Given the description of an element on the screen output the (x, y) to click on. 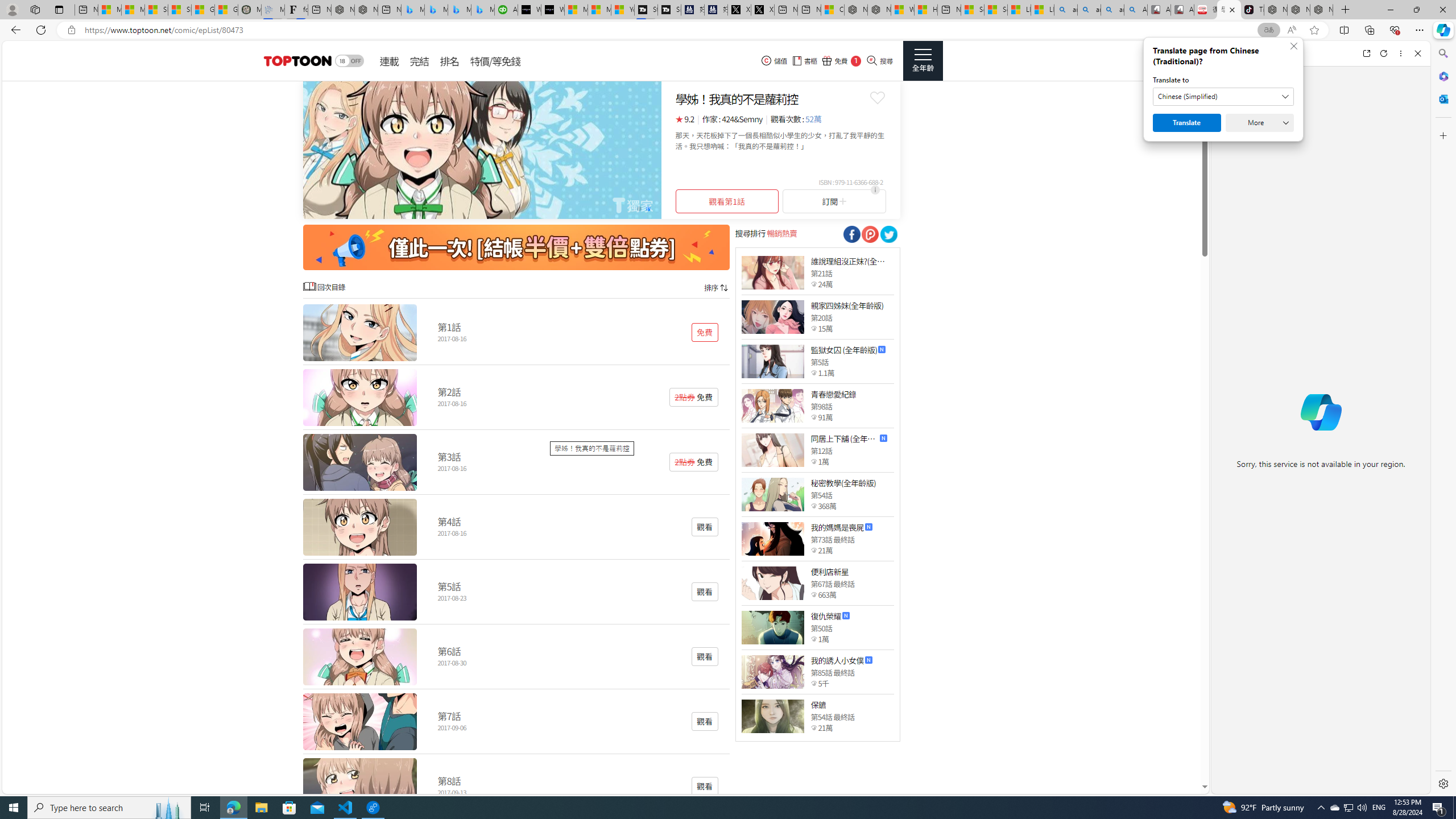
Accounting Software for Accountants, CPAs and Bookkeepers (505, 9)
Manatee Mortality Statistics | FWC (249, 9)
